Given the description of an element on the screen output the (x, y) to click on. 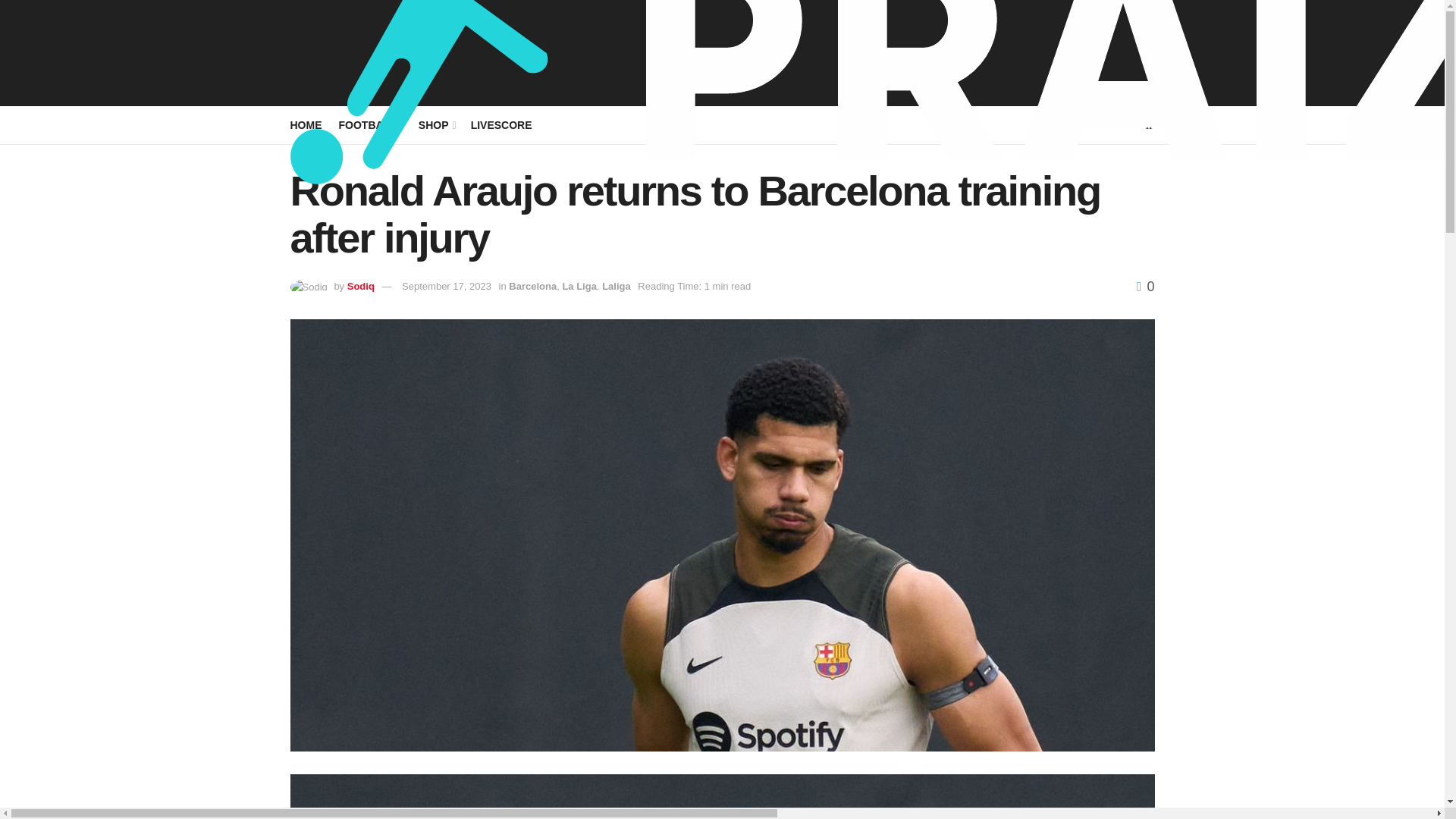
SHOP (436, 124)
FOOTBALL (369, 124)
LIVESCORE (501, 124)
HOME (305, 124)
